Given the description of an element on the screen output the (x, y) to click on. 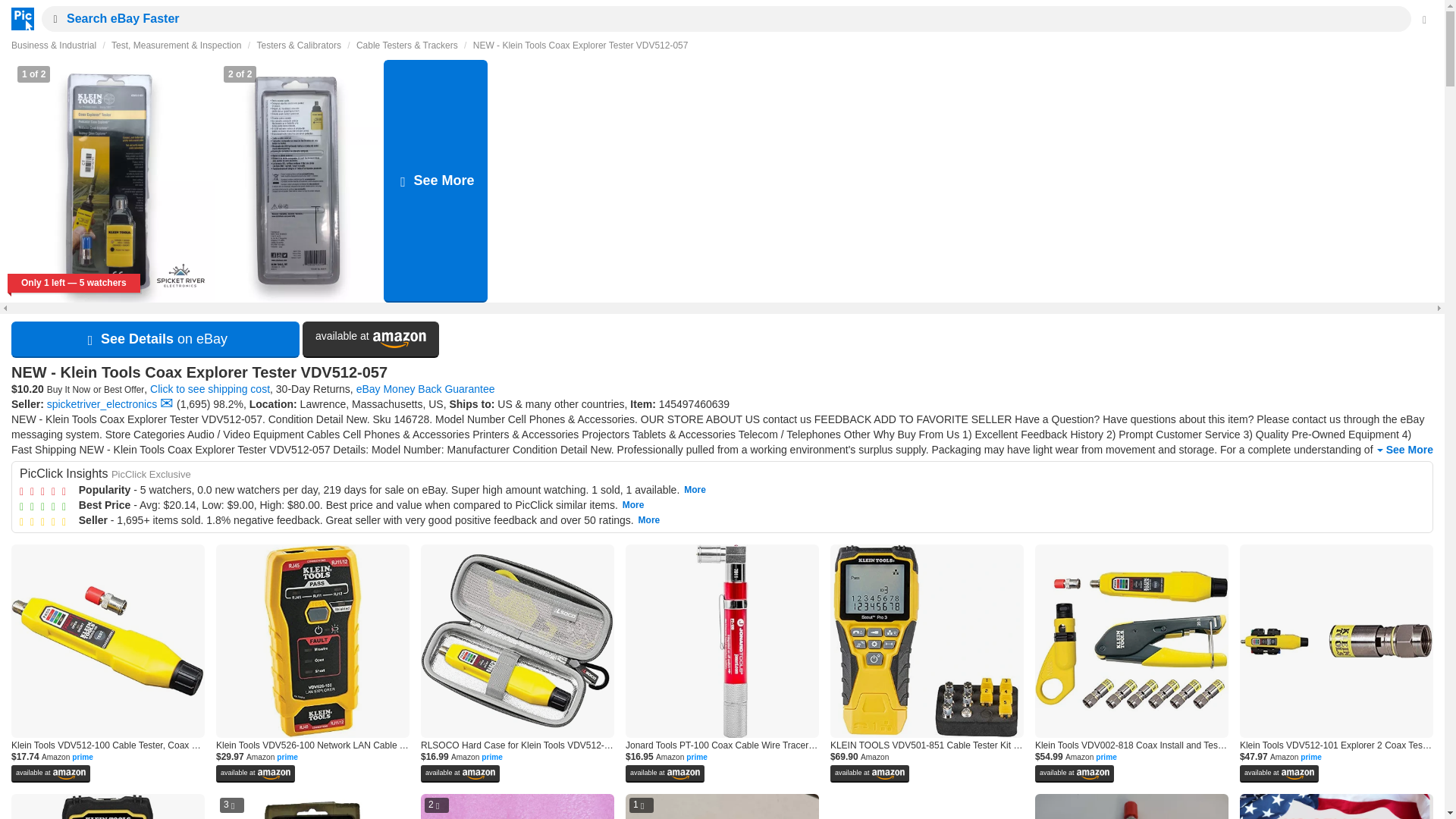
eBay Item Number (694, 404)
available at Amazon (370, 339)
NEW - Klein Tools Coax Explorer Tester VDV512-057 (721, 372)
1,695 Positive Ratings (192, 404)
PicClick (18, 18)
See More (1403, 450)
See Details on eBay (155, 339)
Click to see shipping cost (209, 388)
NEW - Klein Tools Coax Explorer Tester VDV512-057 (580, 45)
eBay Money Back Guarantee (425, 388)
available at (370, 339)
